Given the description of an element on the screen output the (x, y) to click on. 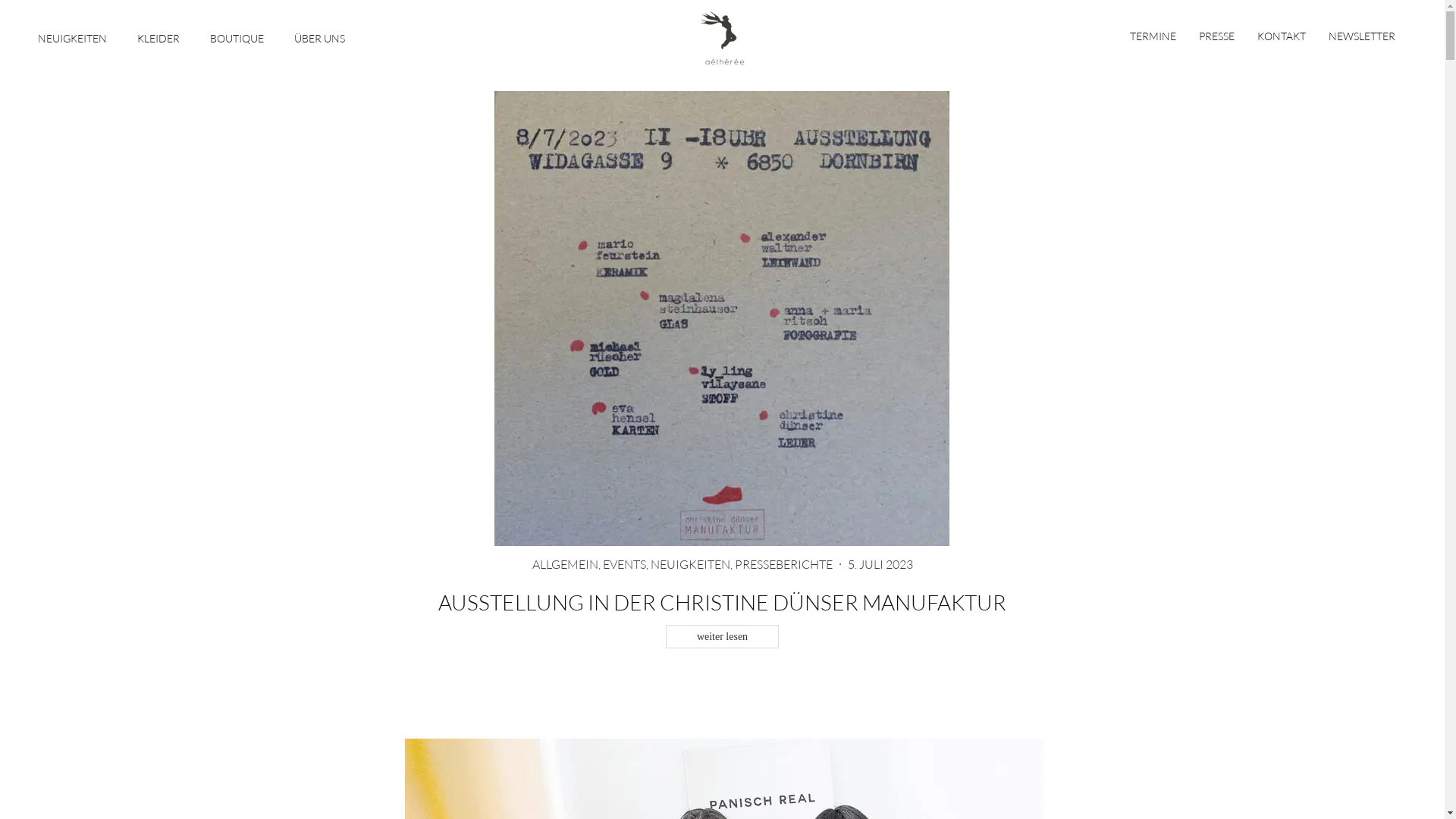
KLEIDER Element type: text (158, 36)
ALLGEMEIN Element type: text (565, 564)
NEWSLETTER Element type: text (1361, 35)
KONTAKT Element type: text (1281, 35)
NEUIGKEITEN Element type: text (71, 36)
NEUIGKEITEN Element type: text (690, 564)
PRESSEBERICHTE Element type: text (782, 564)
PRESSE Element type: text (1216, 35)
weiter lesen Element type: text (721, 636)
EVENTS Element type: text (623, 564)
TERMINE Element type: text (1158, 35)
BOUTIQUE Element type: text (236, 36)
